Given the description of an element on the screen output the (x, y) to click on. 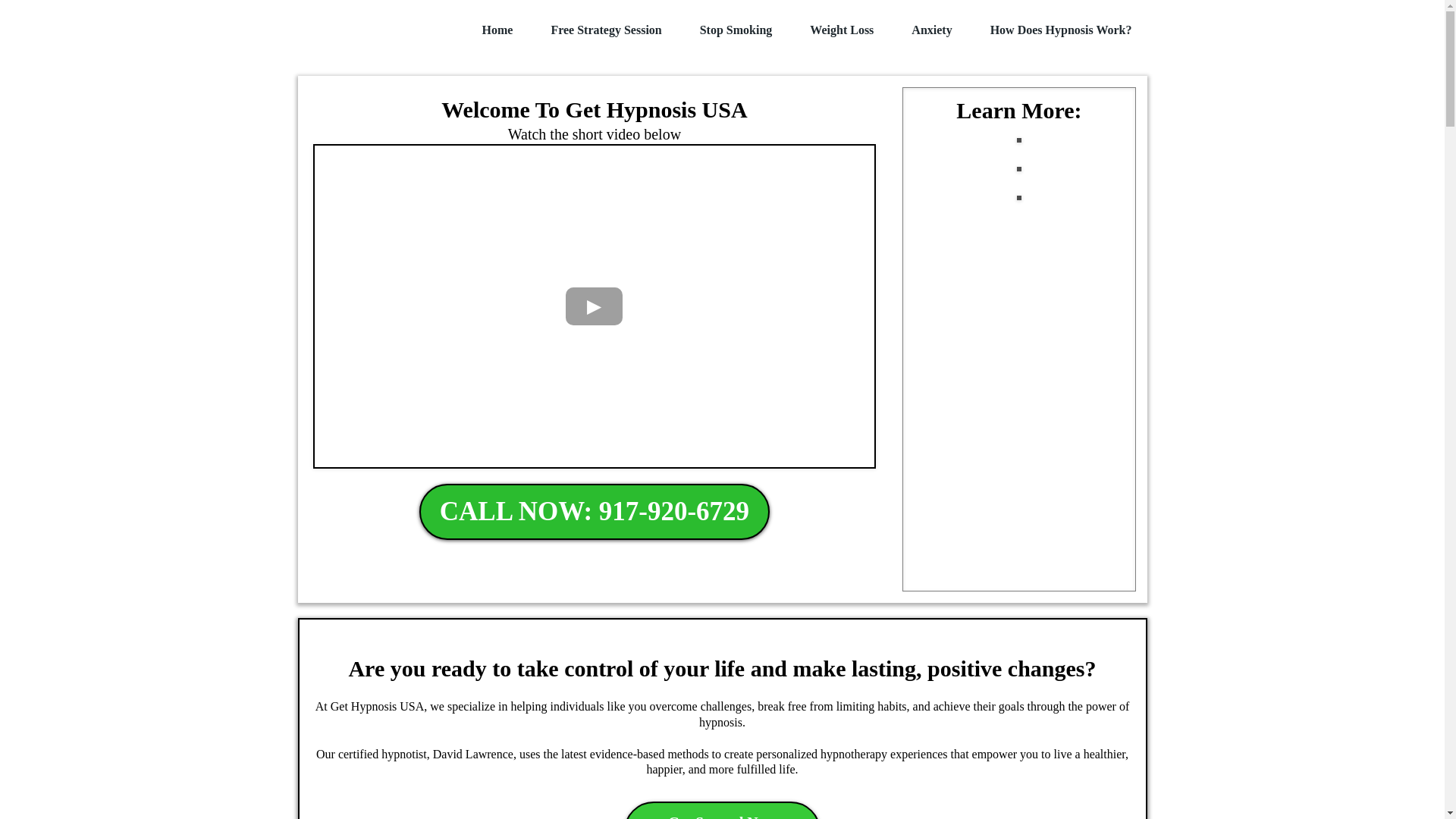
CALL NOW: 917-920-6729 (594, 511)
Weight Loss (722, 810)
How Does Hypnosis Work? (841, 30)
Anxiety (1061, 30)
Free Strategy Session (931, 30)
Home (605, 30)
Stop Smoking (497, 30)
